Given the description of an element on the screen output the (x, y) to click on. 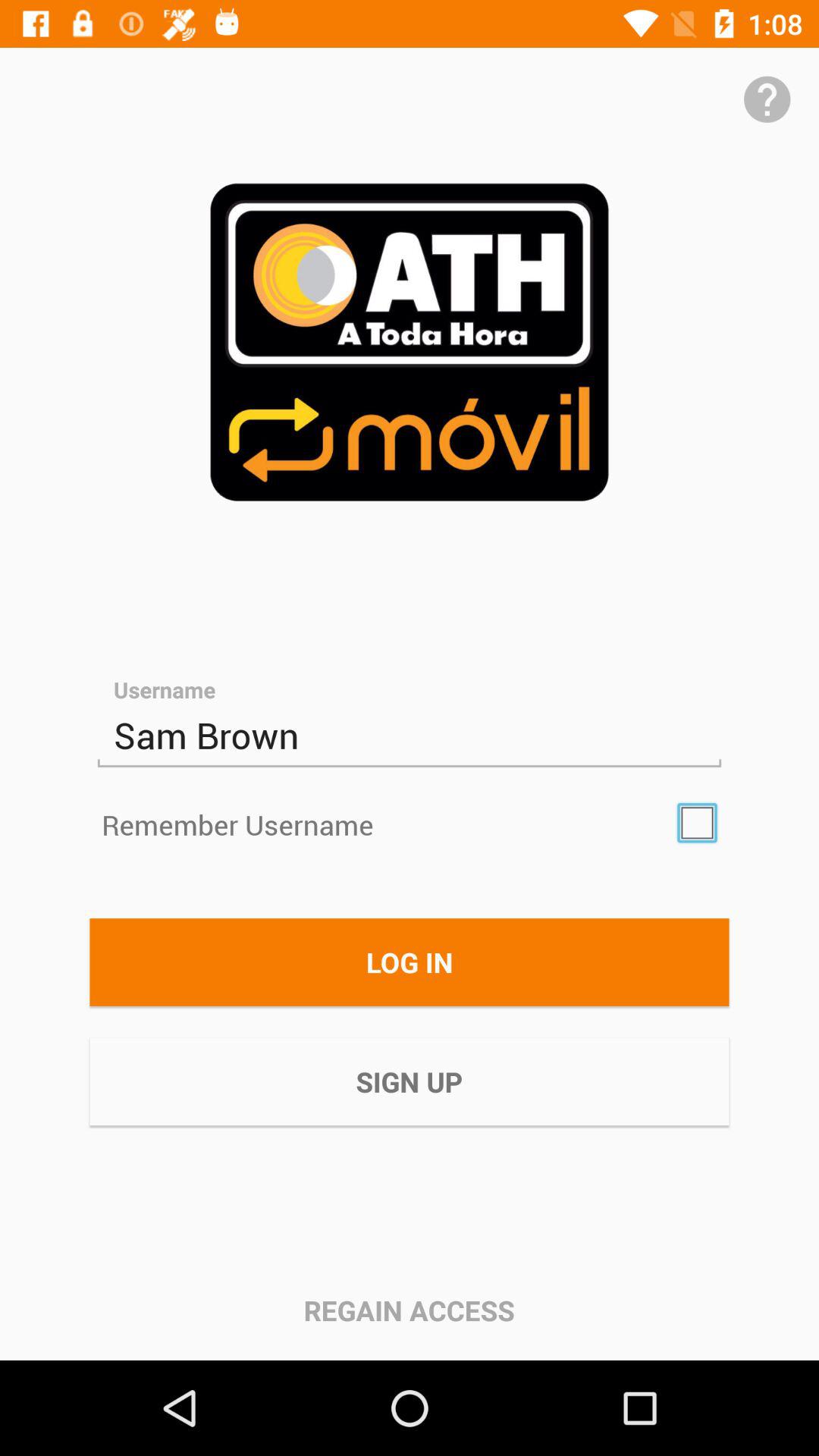
turn on regain access (408, 1310)
